Given the description of an element on the screen output the (x, y) to click on. 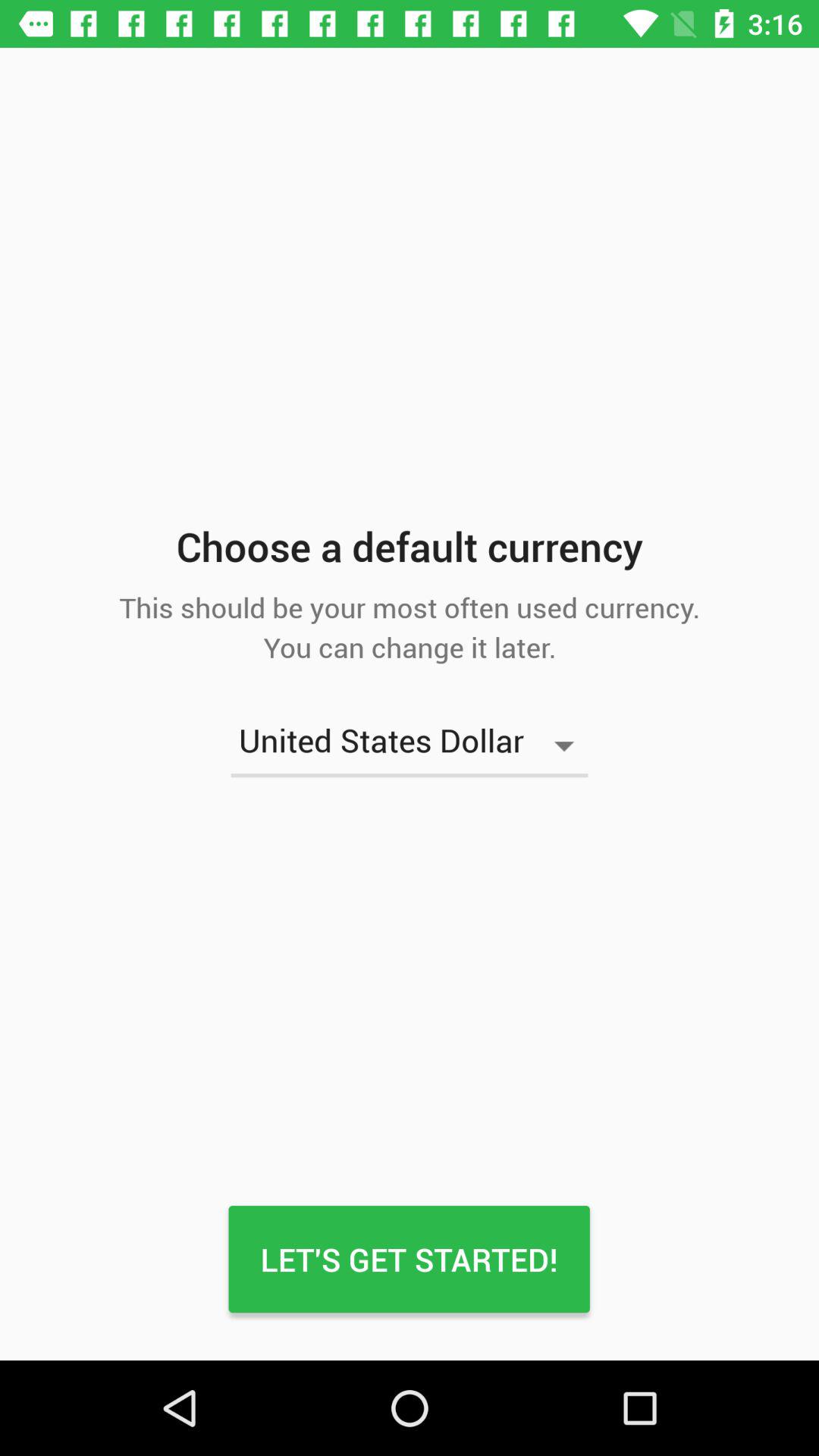
open item above the let s get (409, 745)
